Given the description of an element on the screen output the (x, y) to click on. 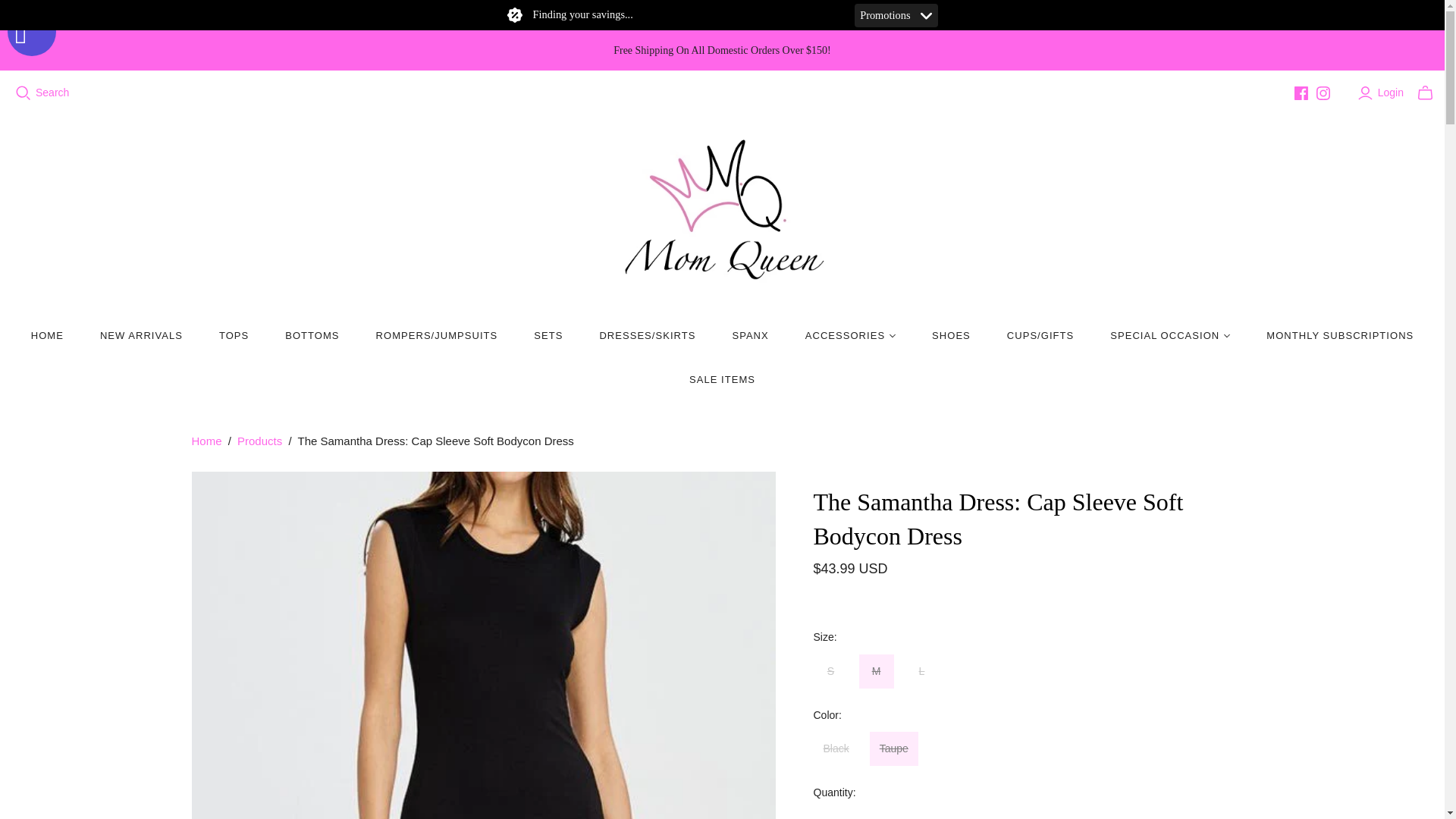
TOPS (233, 335)
BOTTOMS (311, 335)
NEW ARRIVALS (140, 335)
ACCESSORIES (850, 335)
SHOES (951, 335)
Login (1381, 92)
SPANX (749, 335)
HOME (47, 335)
SPECIAL OCCASION (1169, 335)
1 (833, 814)
